Given the description of an element on the screen output the (x, y) to click on. 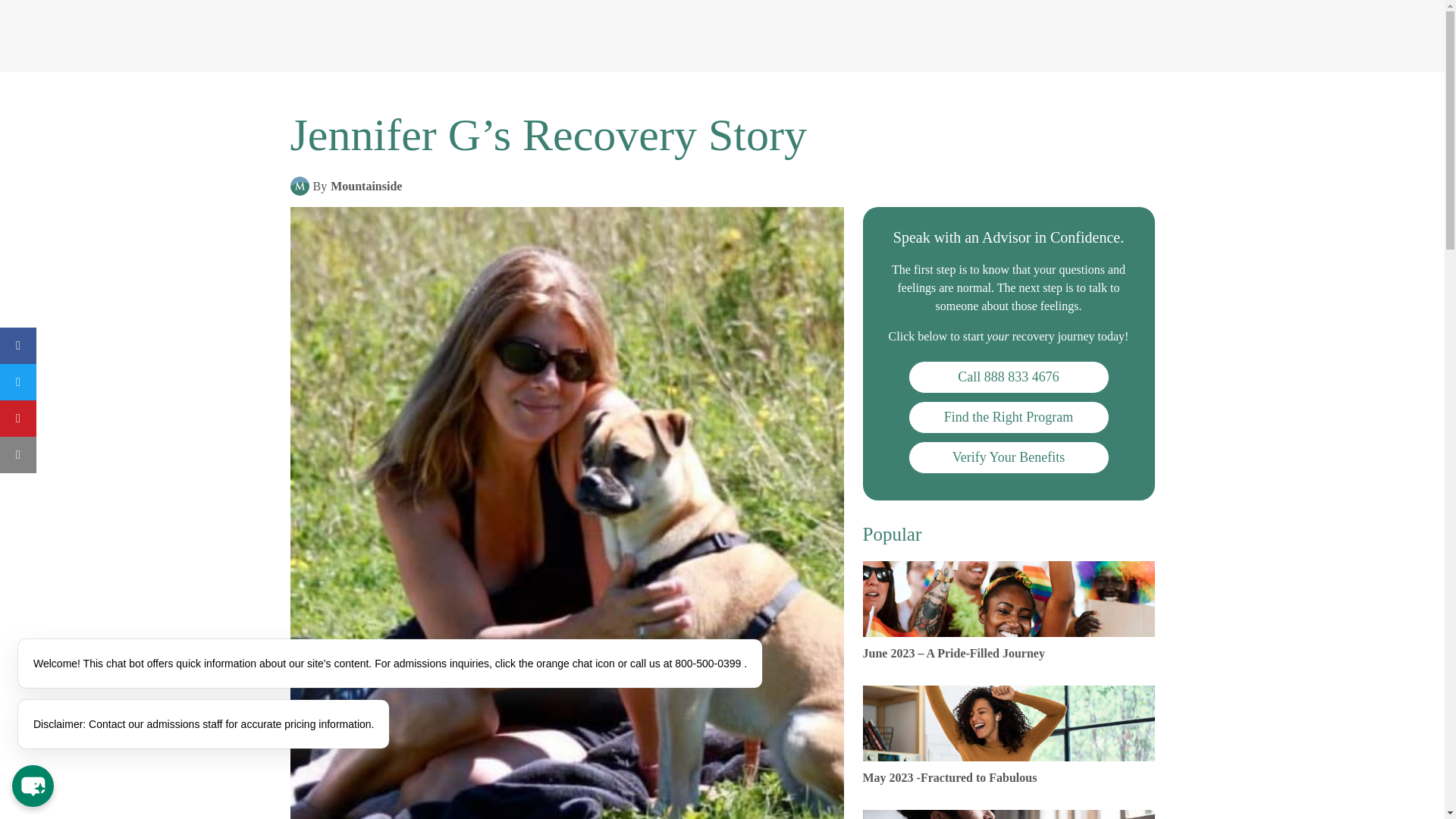
Find the Right Program (1008, 417)
Call 888 833 4676 (1008, 377)
Verify Your Benefits (1008, 457)
Share by Email (18, 454)
Pin on Pinterest (18, 418)
Share on Facebook (18, 345)
May 2023 -Fractured to Fabulous (1008, 739)
Share on Twitter (18, 381)
